Given the description of an element on the screen output the (x, y) to click on. 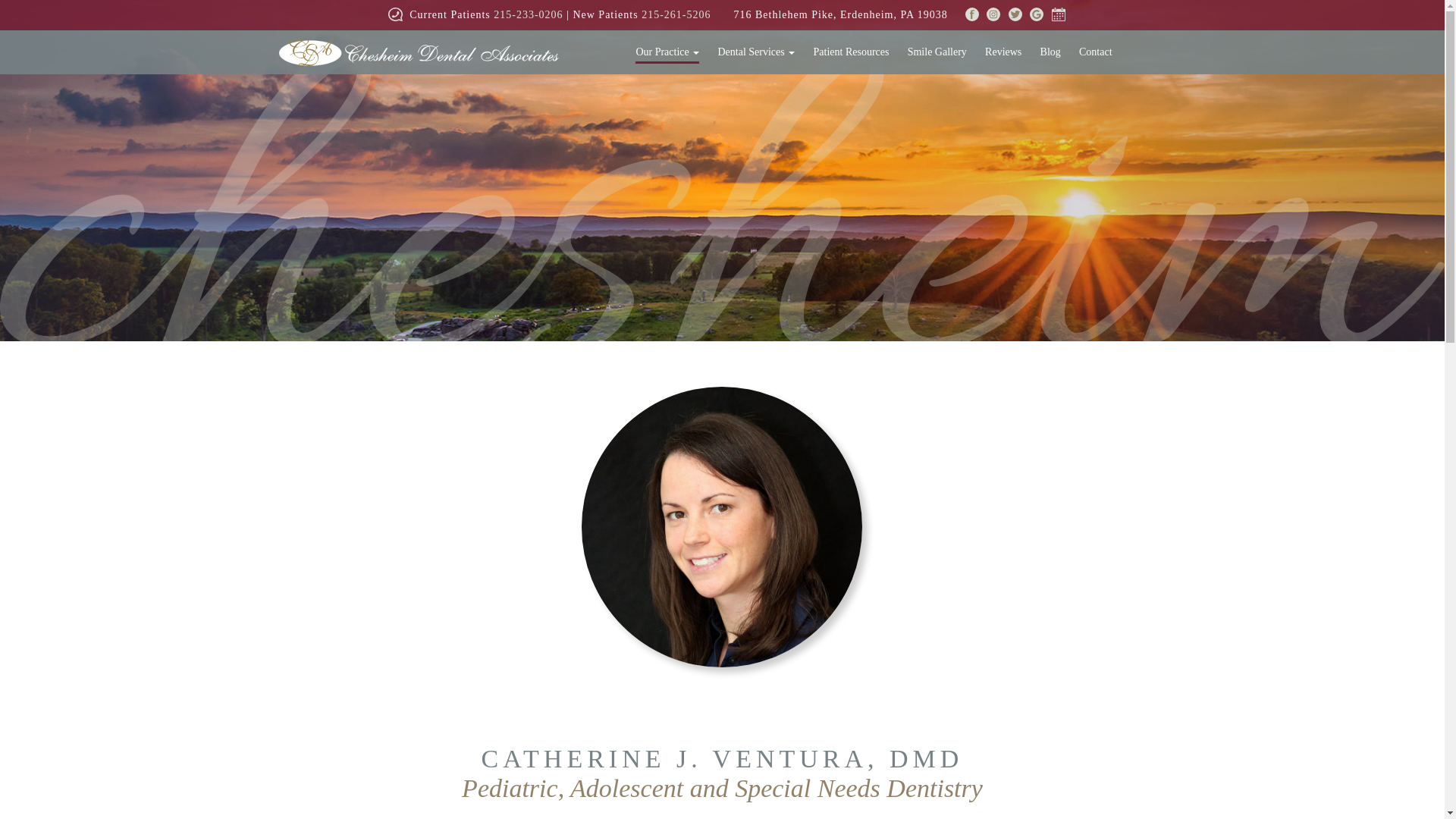
215-261-5206 (676, 14)
215-233-0206 (527, 14)
Our Practice (666, 52)
Chesheim Dental Associates (419, 51)
Dental Services (756, 52)
